Given the description of an element on the screen output the (x, y) to click on. 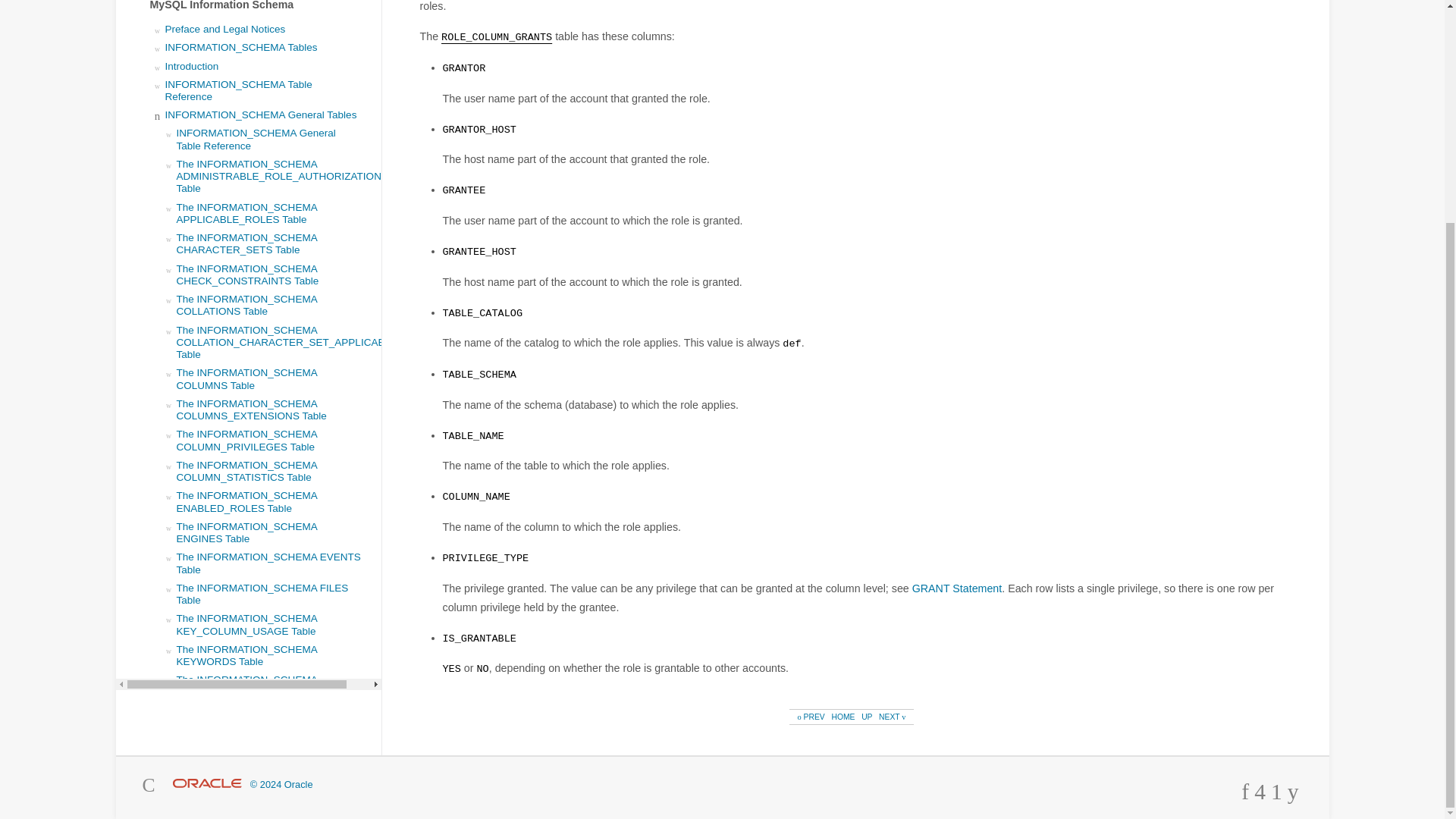
Introduction (192, 66)
Preface and Legal Notices (225, 29)
